Given the description of an element on the screen output the (x, y) to click on. 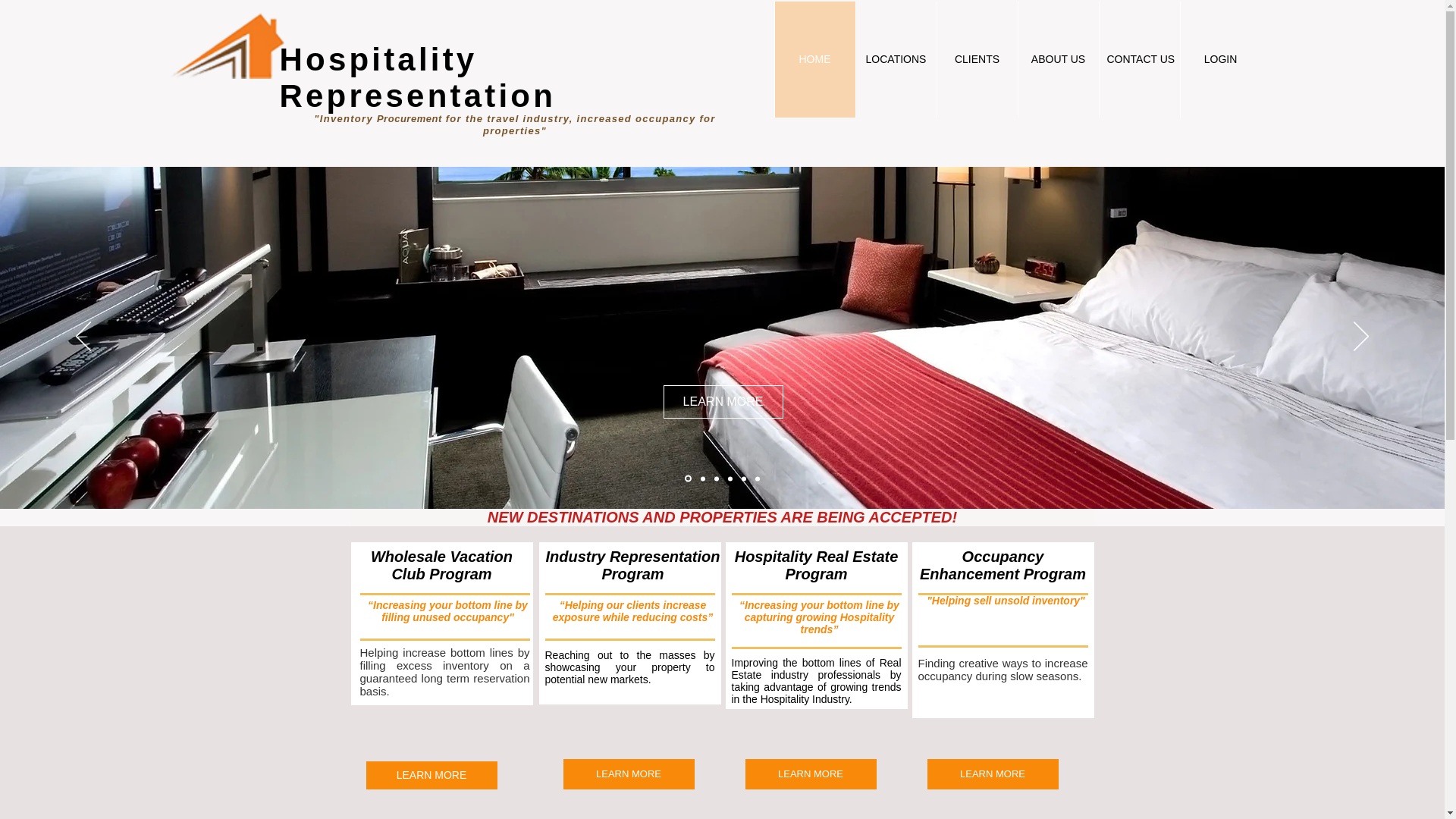
LEARN MORE (810, 774)
LEARN MORE (992, 774)
LEARN MORE (430, 775)
LEARN MORE (628, 774)
LEARN MORE (722, 401)
